Given the description of an element on the screen output the (x, y) to click on. 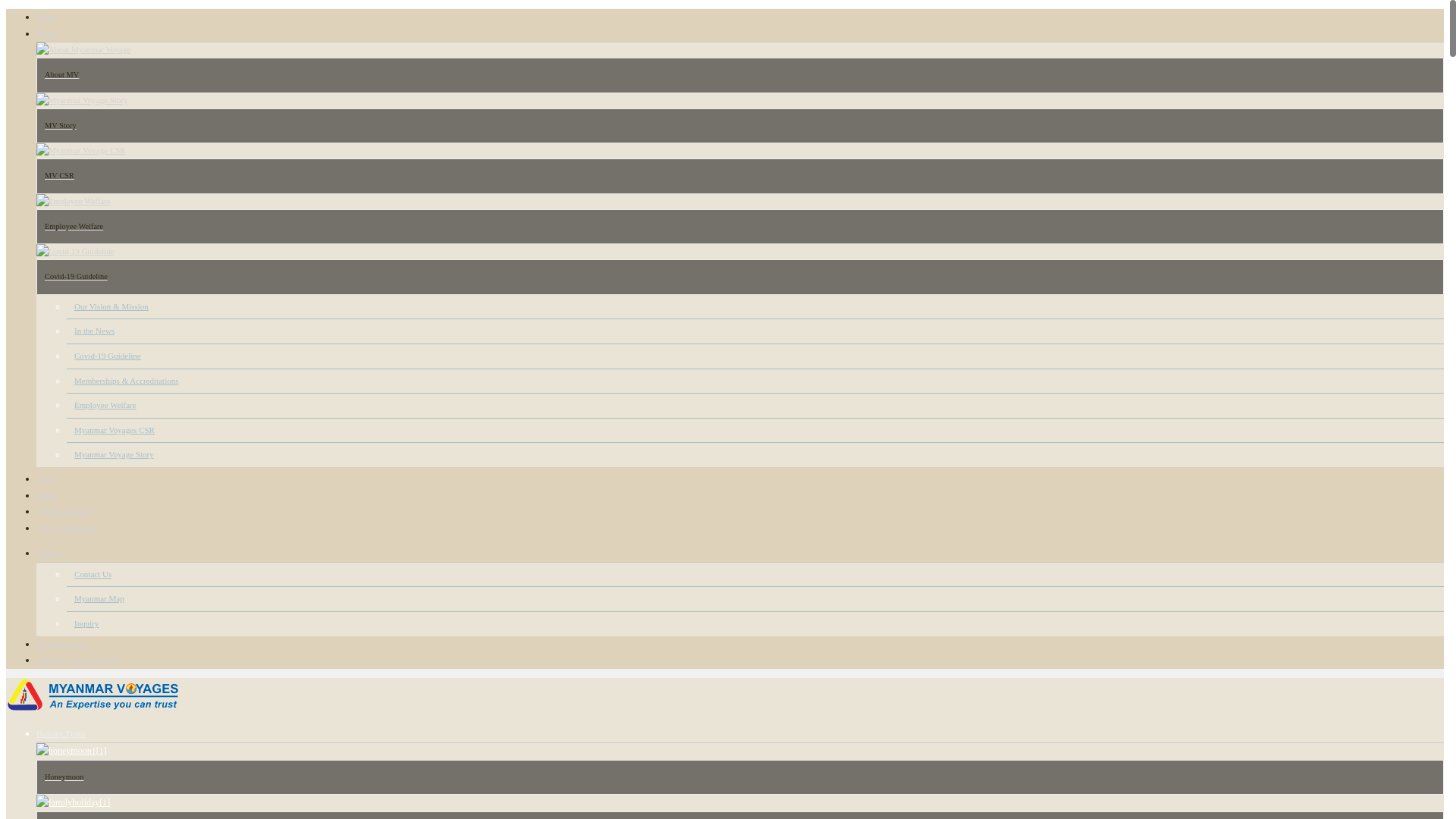
Covid-19 Guideline (107, 355)
In the News (94, 329)
About (47, 32)
Inquiry (86, 623)
Tours (45, 478)
Contact Us (93, 573)
Partner Central (61, 643)
Hotels (47, 494)
Contact (49, 552)
Employee Welfare (105, 404)
Holiday Types (60, 732)
Myanmar Voyages CSR (114, 429)
Home (46, 16)
Myanmar Map (98, 597)
09 890 601 300 (63, 510)
